Given the description of an element on the screen output the (x, y) to click on. 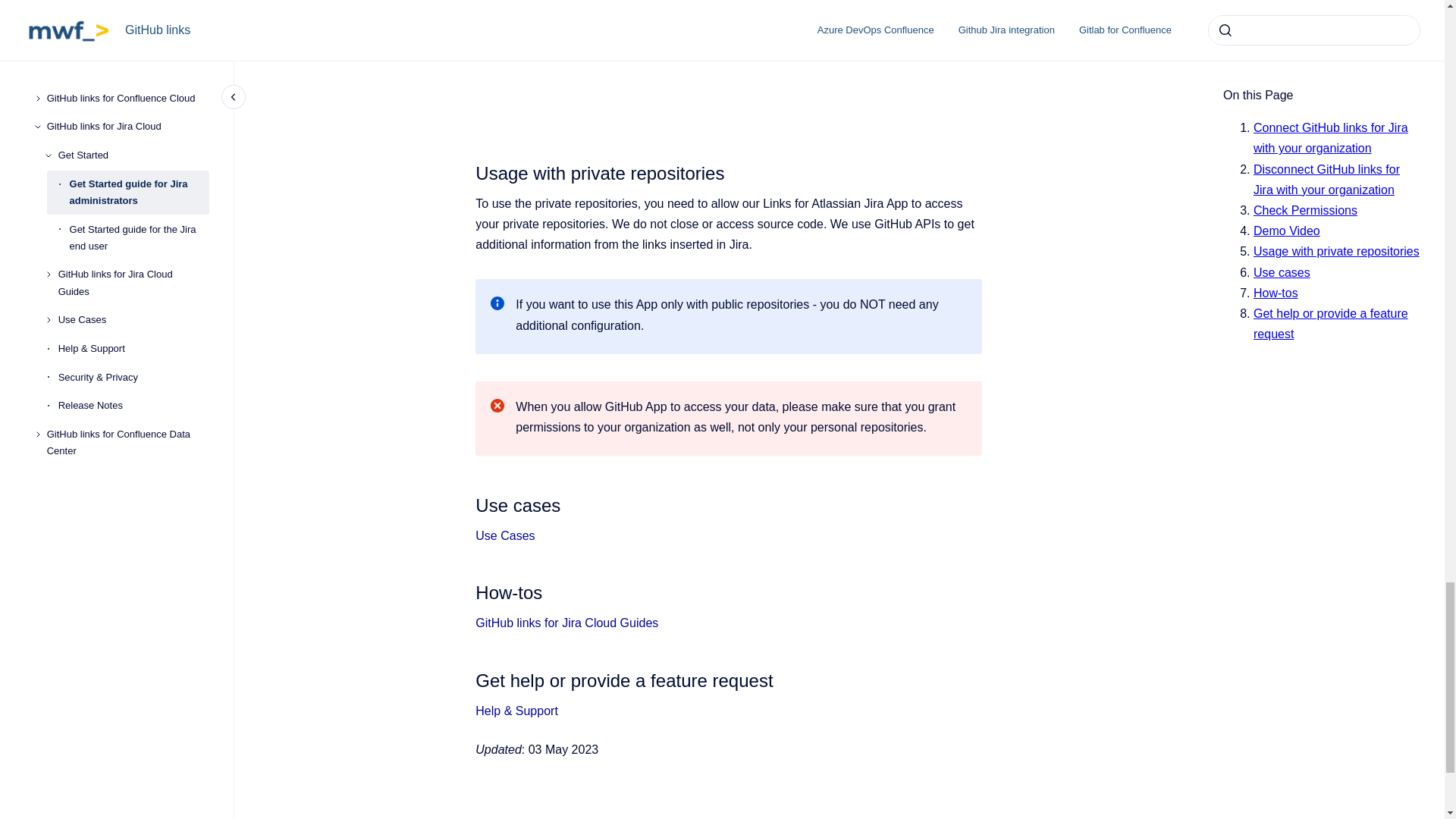
Use Cases (505, 535)
Copy to clipboard (468, 171)
Copy to clipboard (468, 590)
Copy to clipboard (468, 679)
Copy to clipboard (468, 503)
